Given the description of an element on the screen output the (x, y) to click on. 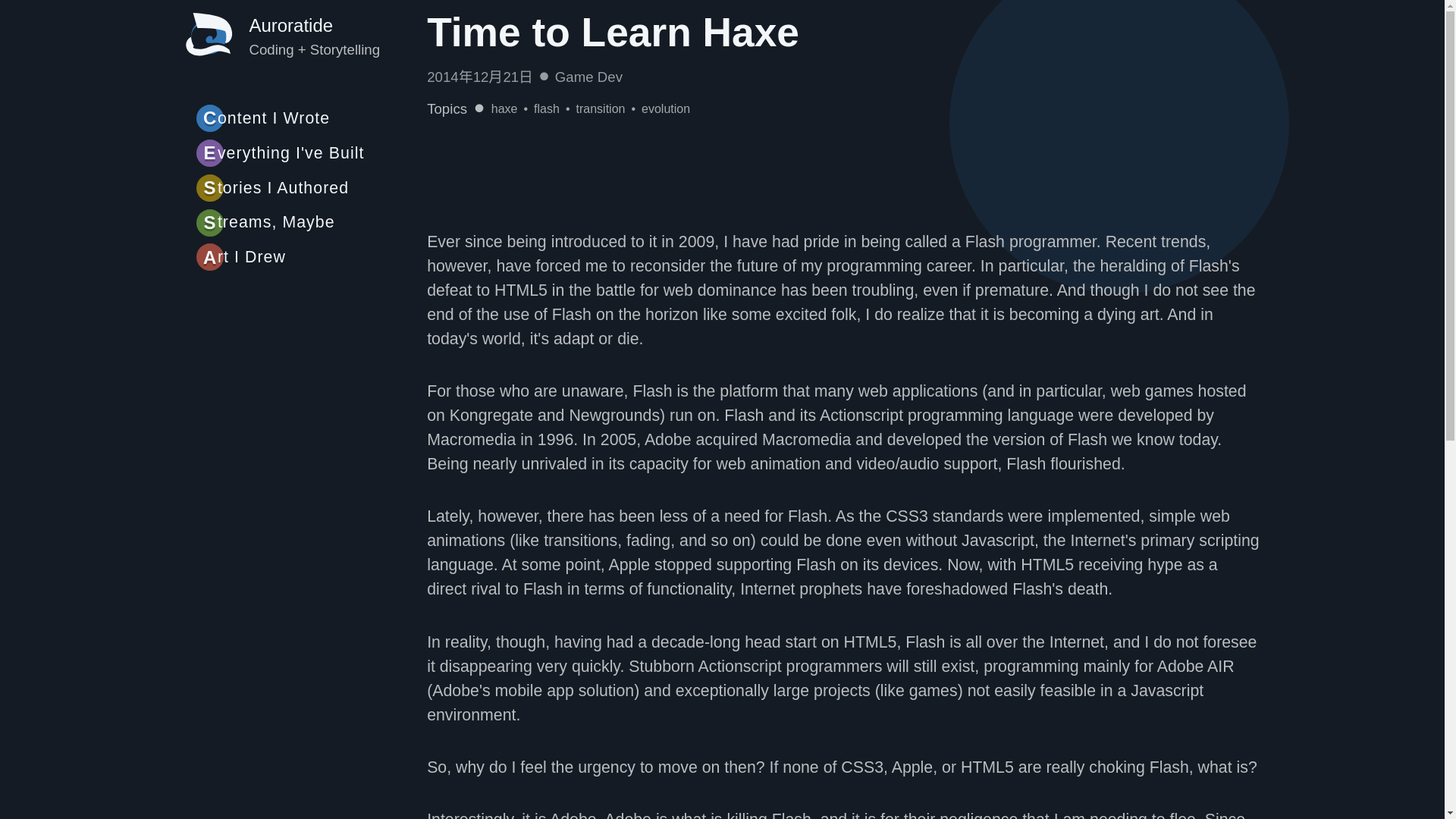
Auroratide (290, 25)
Stories I Authored (311, 188)
Streams, Maybe (311, 221)
Content I Wrote (311, 117)
Everything I've Built (311, 153)
Art I Drew (311, 257)
